Given the description of an element on the screen output the (x, y) to click on. 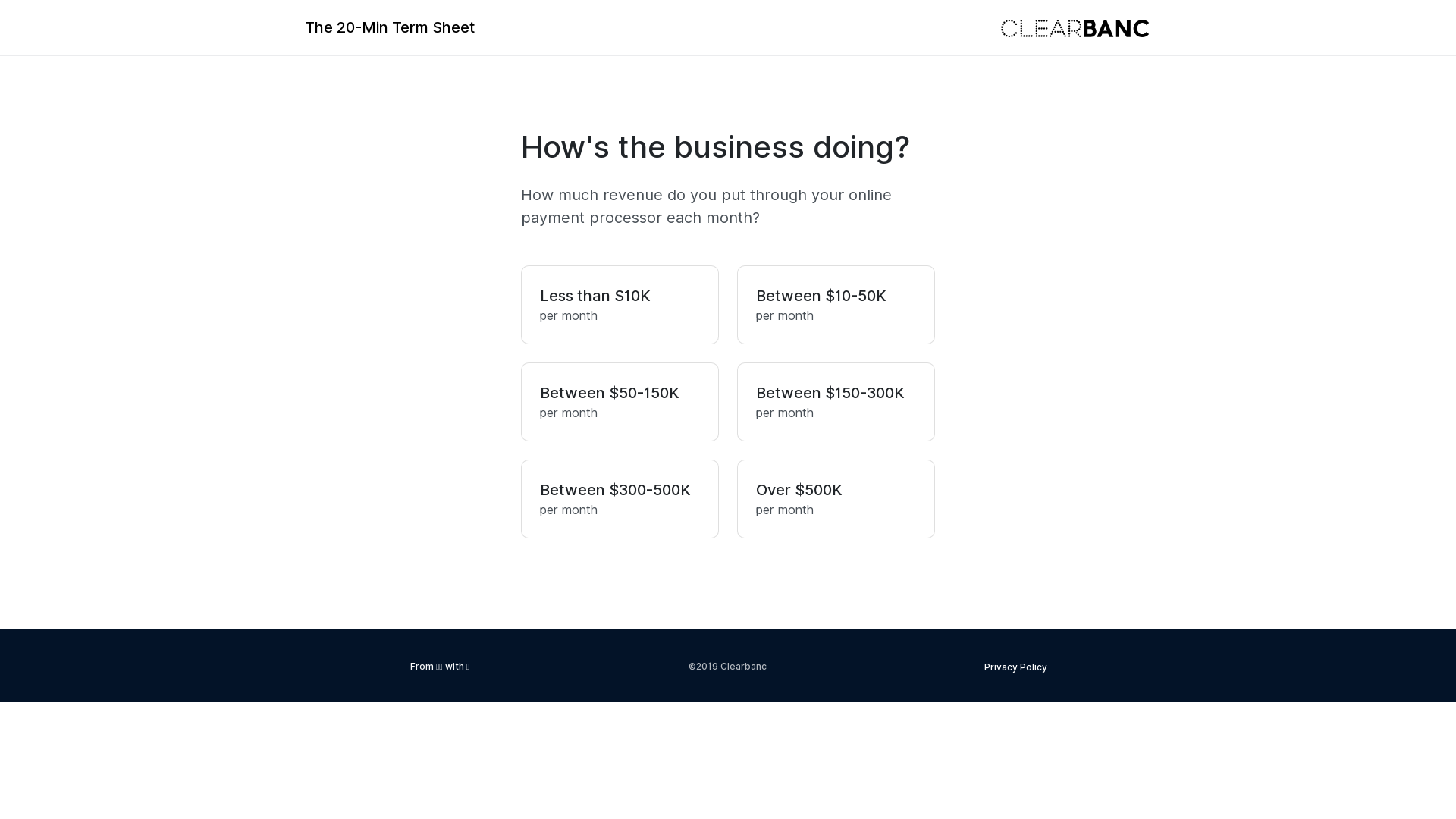
Between $50-150K
per month Element type: text (619, 401)
Less than $10K
per month Element type: text (619, 304)
Over $500K
per month Element type: text (836, 498)
Between $150-300K
per month Element type: text (836, 401)
Between $300-500K
per month Element type: text (619, 498)
Between $10-50K
per month Element type: text (836, 304)
Privacy Policy Element type: text (1015, 666)
The 20-Min Term Sheet Element type: text (389, 27)
